Given the description of an element on the screen output the (x, y) to click on. 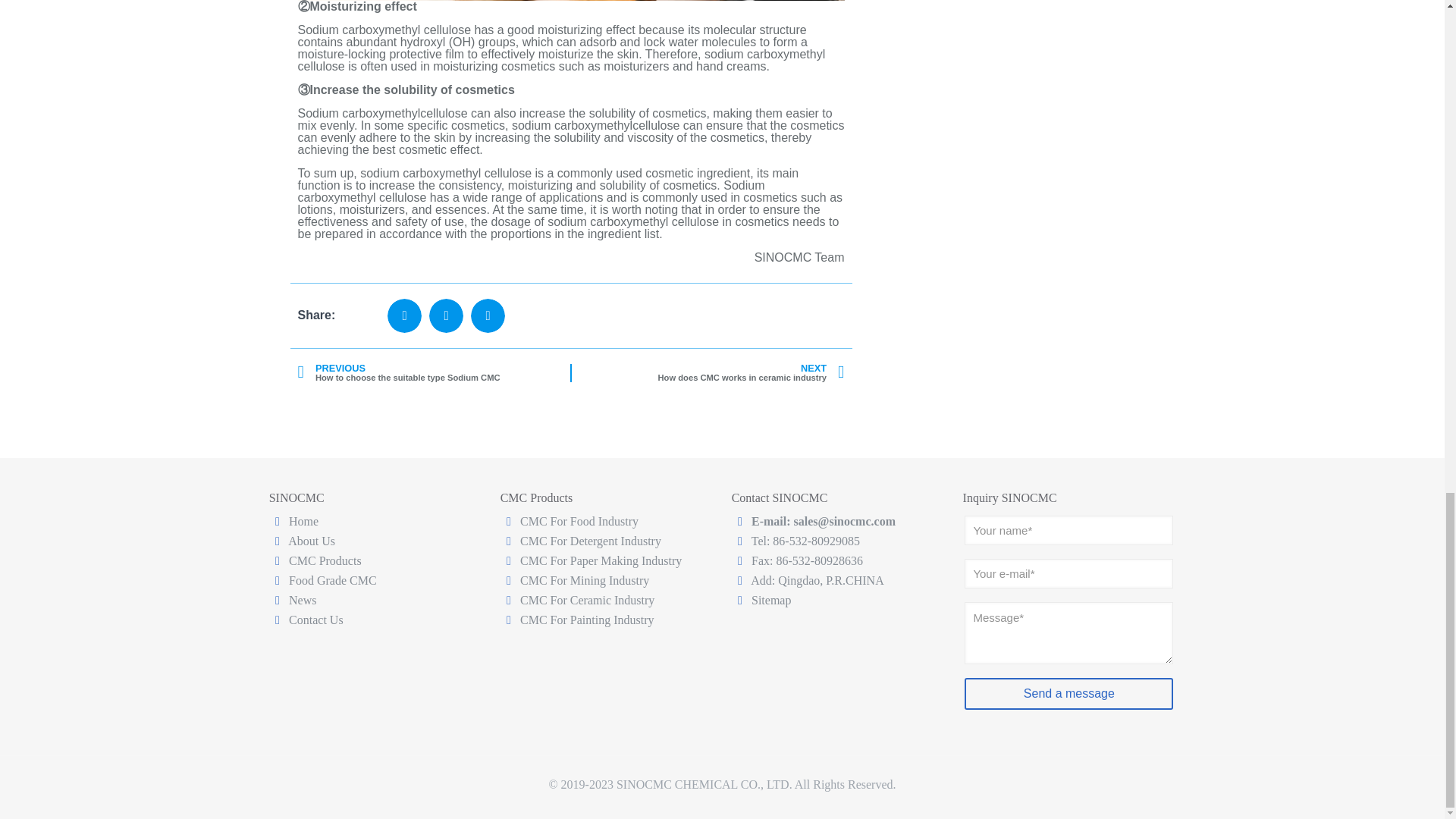
Send a message (1068, 694)
